Given the description of an element on the screen output the (x, y) to click on. 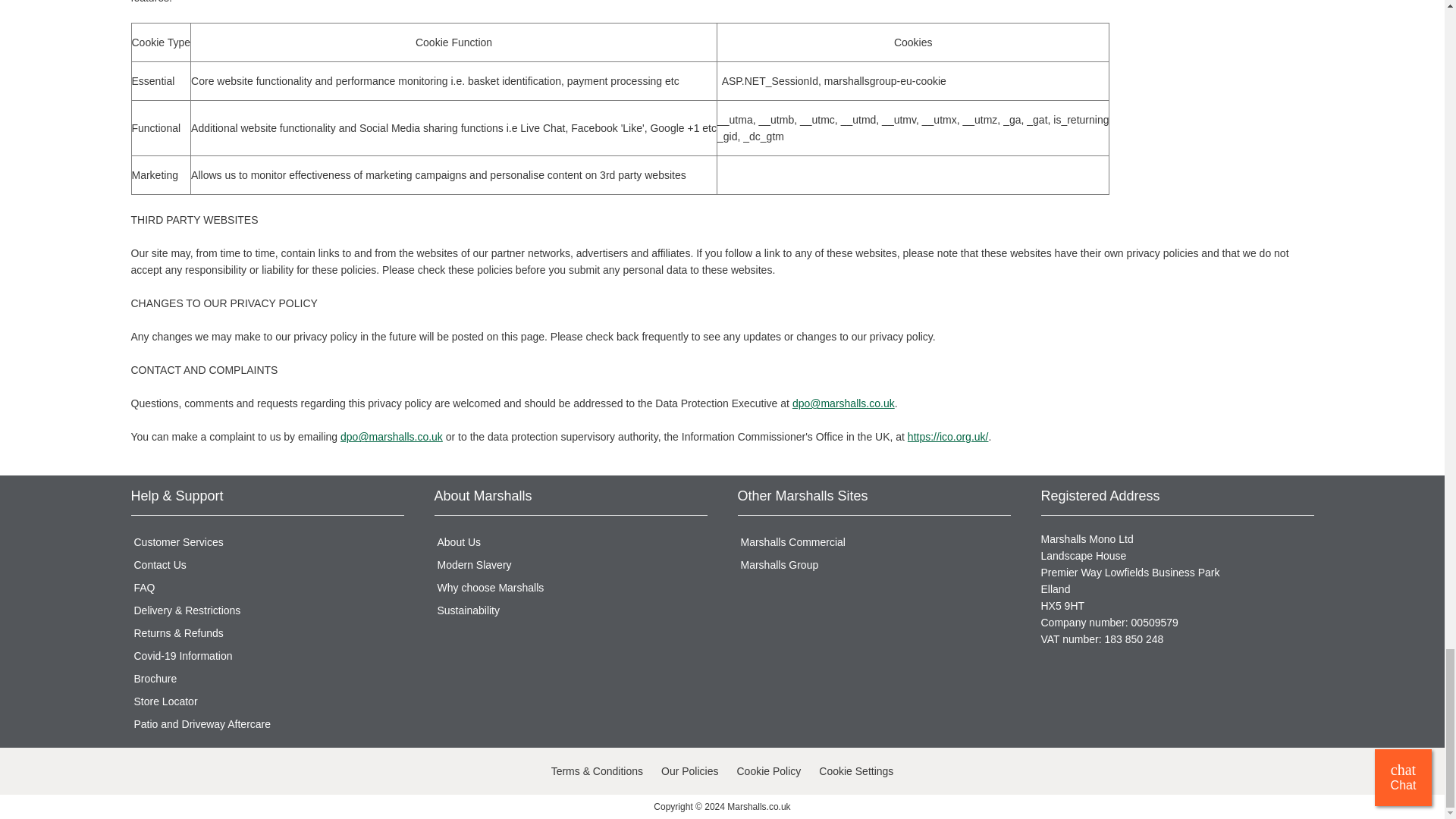
Visa Debit (176, 773)
Maestro (304, 773)
PayPal (240, 773)
Visa Electron (208, 773)
Mastercard (272, 773)
Visa (144, 773)
